Given the description of an element on the screen output the (x, y) to click on. 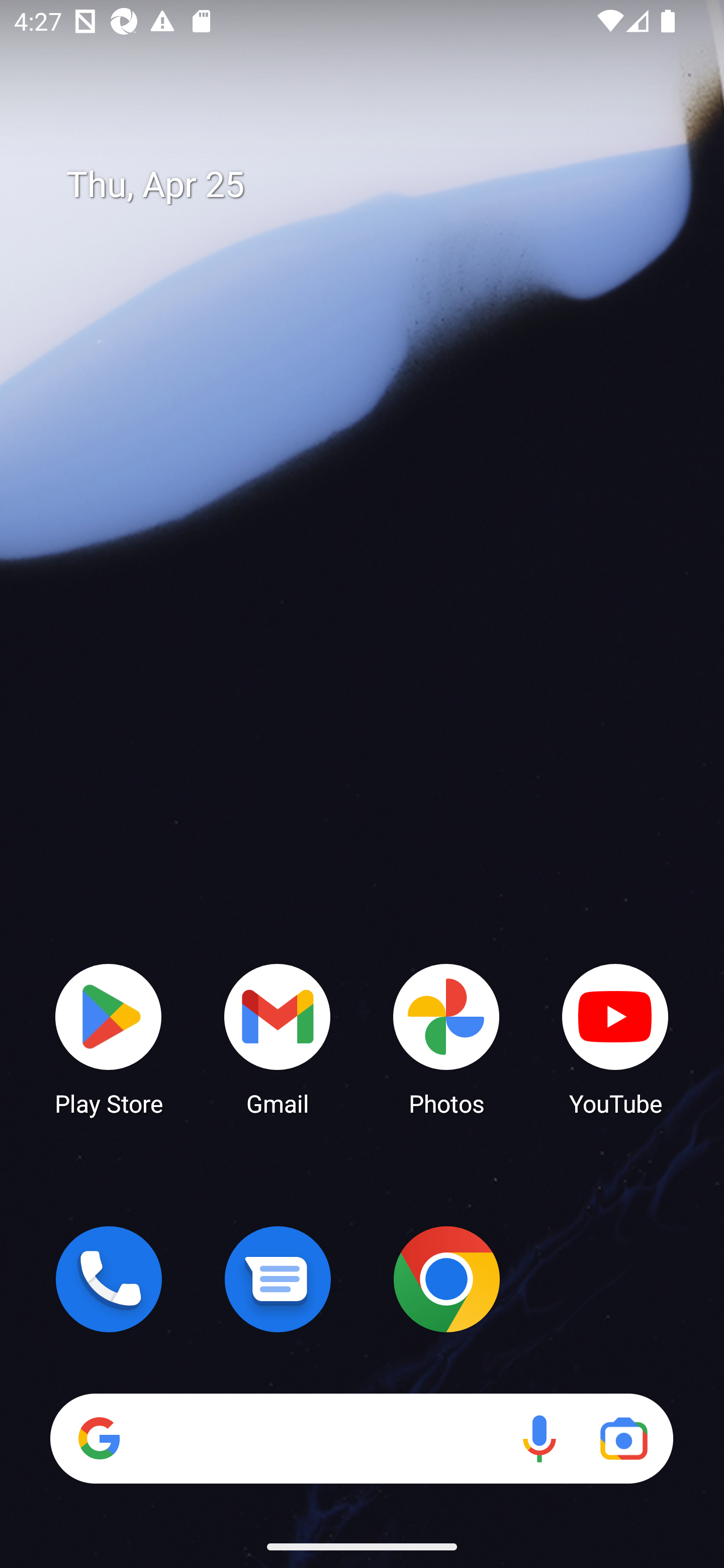
Thu, Apr 25 (375, 184)
Play Store (108, 1038)
Gmail (277, 1038)
Photos (445, 1038)
YouTube (615, 1038)
Phone (108, 1279)
Messages (277, 1279)
Chrome (446, 1279)
Search Voice search Google Lens (361, 1438)
Voice search (539, 1438)
Google Lens (623, 1438)
